Given the description of an element on the screen output the (x, y) to click on. 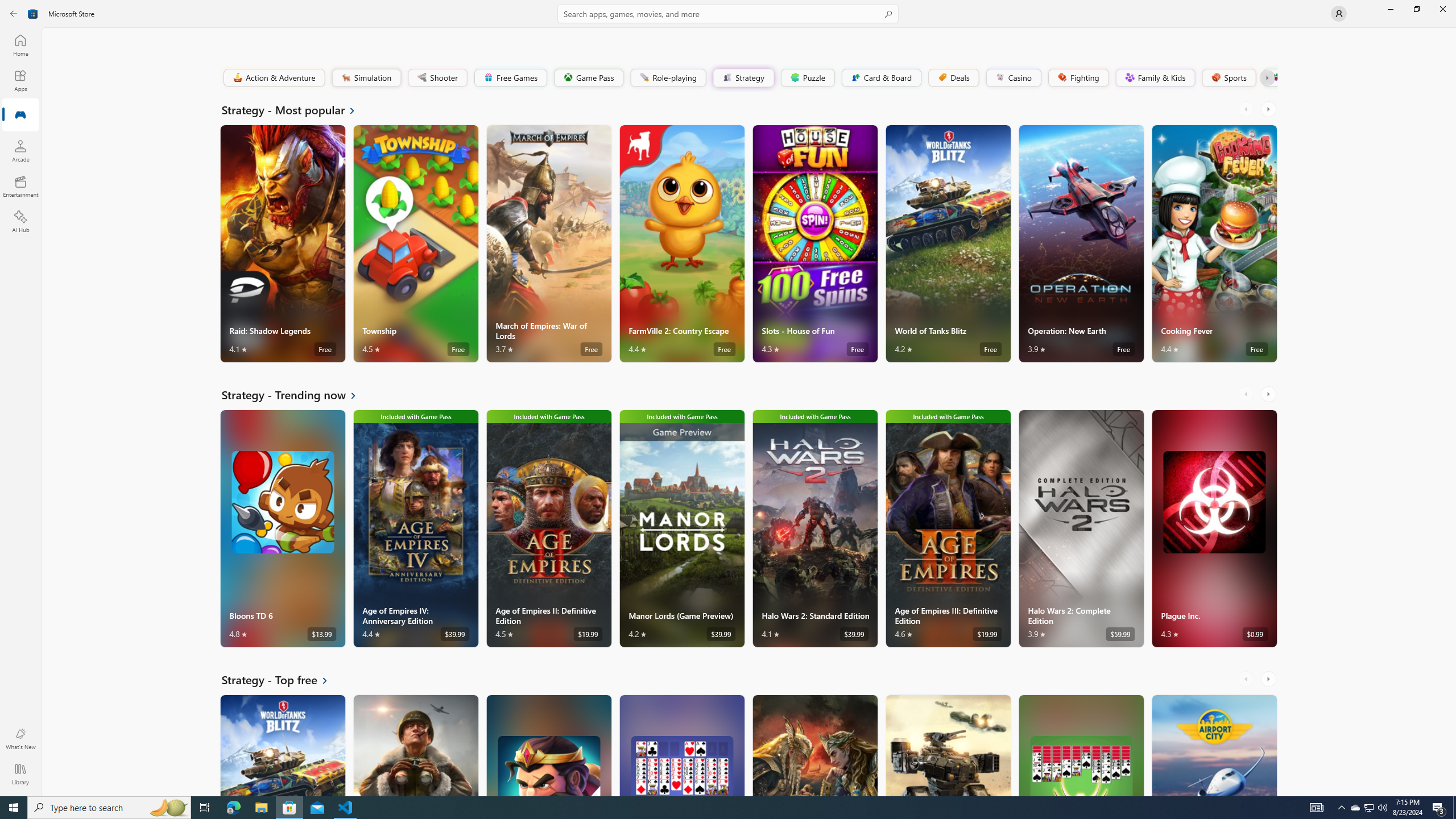
AutomationID: LeftScrollButton (1246, 678)
Close Microsoft Store (1442, 9)
Class: Button (1266, 77)
Entertainment (20, 185)
Arcade (20, 150)
User profile (1338, 13)
See all  Strategy - Top free (281, 679)
See all  Strategy - Trending now (295, 394)
